Given the description of an element on the screen output the (x, y) to click on. 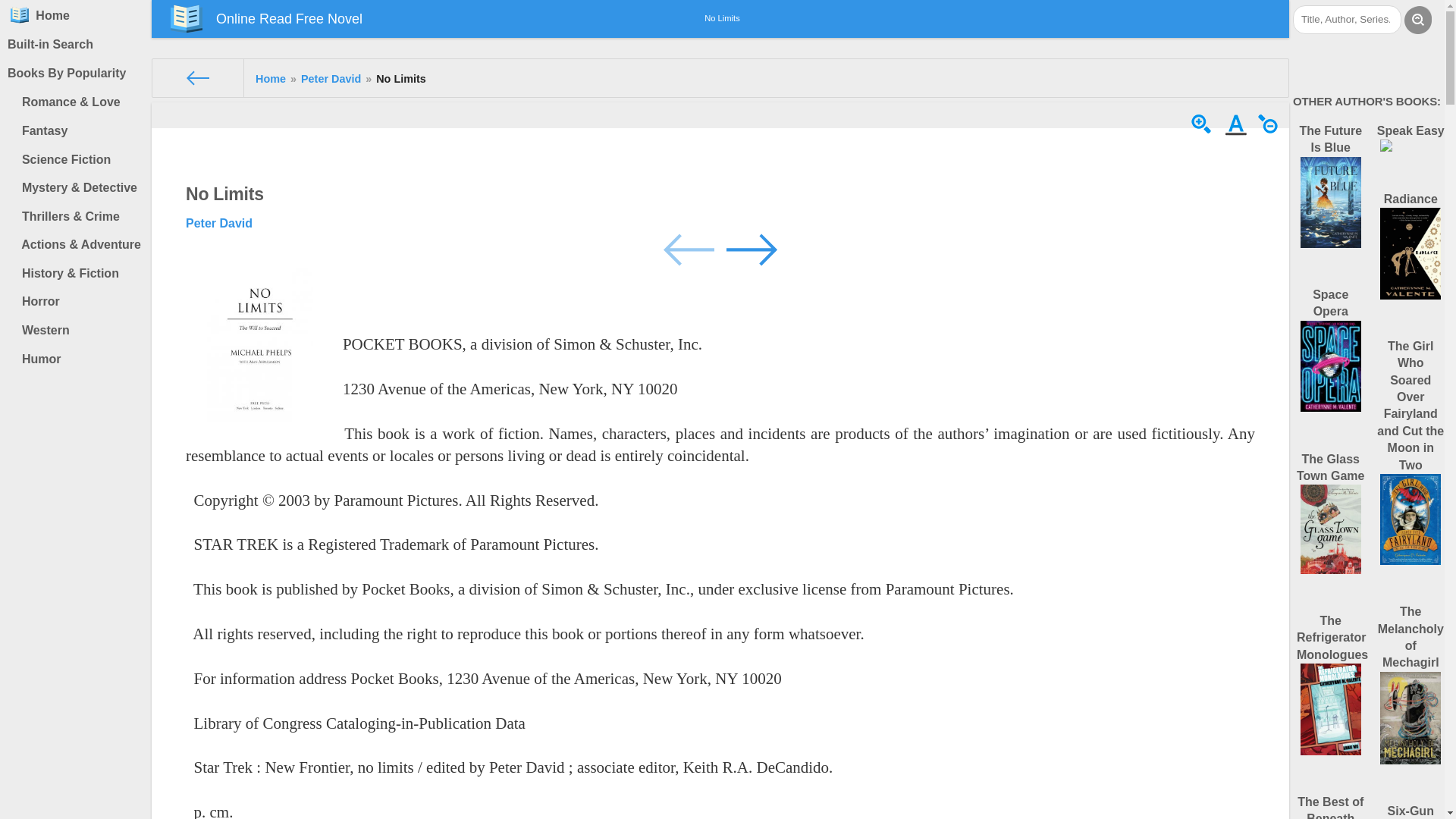
Reset Font Size (1237, 131)
Larger Font (1202, 131)
Online Read Free Novel (266, 18)
Peter David (331, 78)
Peter David (331, 78)
  Horror (79, 302)
  Science Fiction (79, 159)
Smaller Font (1271, 131)
Home (270, 78)
  Western (79, 330)
Previous Page (690, 248)
Peter David (218, 223)
   Home (75, 15)
